Given the description of an element on the screen output the (x, y) to click on. 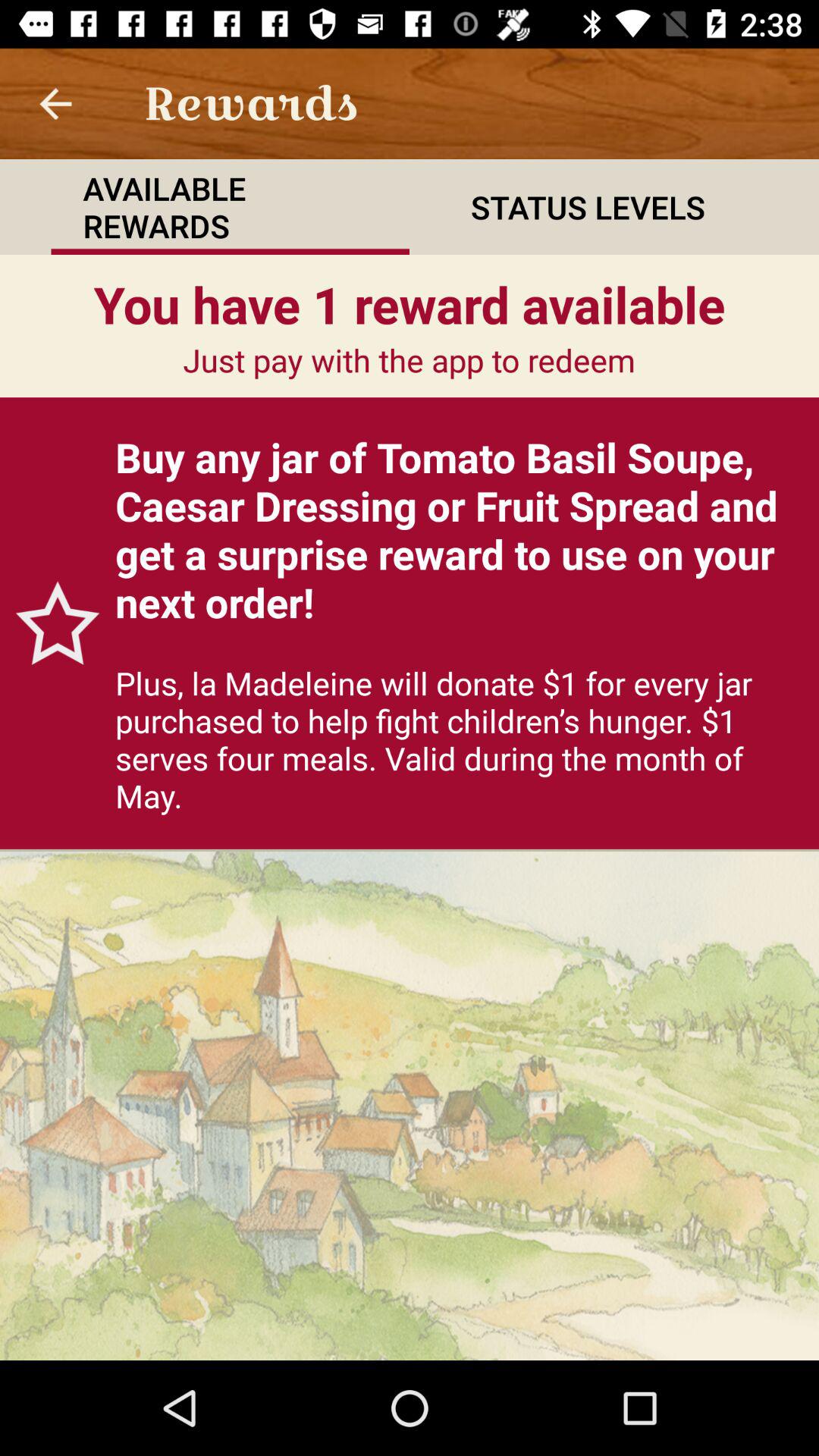
tap the app next to rewards app (55, 103)
